Given the description of an element on the screen output the (x, y) to click on. 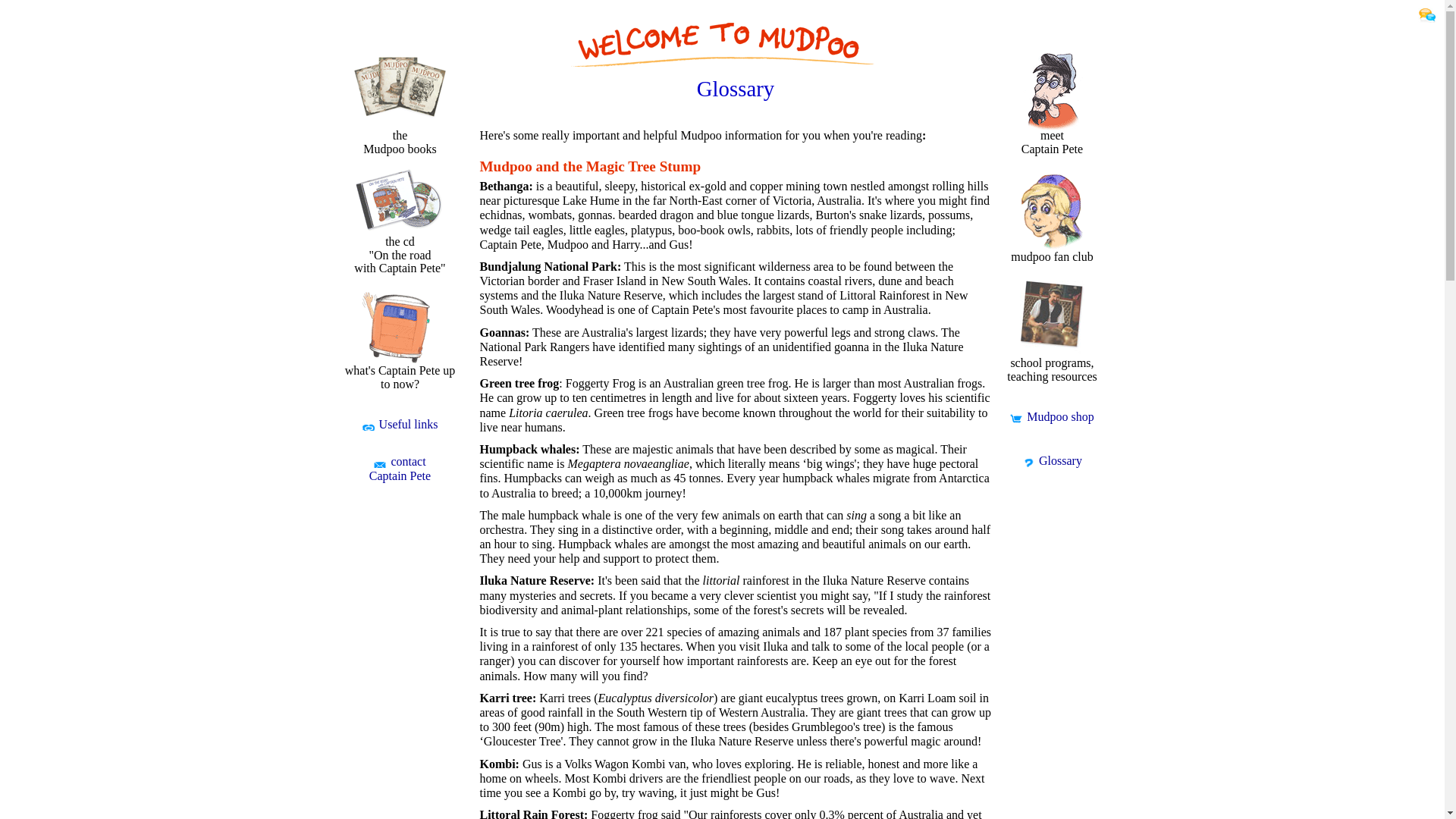
Mudpoo shop Element type: text (1051, 416)
mudpoo fan club Element type: text (1051, 227)
Glossary Element type: text (1052, 460)
what's Captain Pete up to now? Element type: text (399, 354)
Useful links Element type: text (400, 423)
school programs,
teaching resources Element type: text (1051, 344)
the cd
"On the road
with Captain Pete" Element type: text (399, 228)
the
Mudpoo books Element type: text (399, 109)
meet
Captain Pete Element type: text (1051, 113)
contact
Captain Pete Element type: text (399, 468)
